Given the description of an element on the screen output the (x, y) to click on. 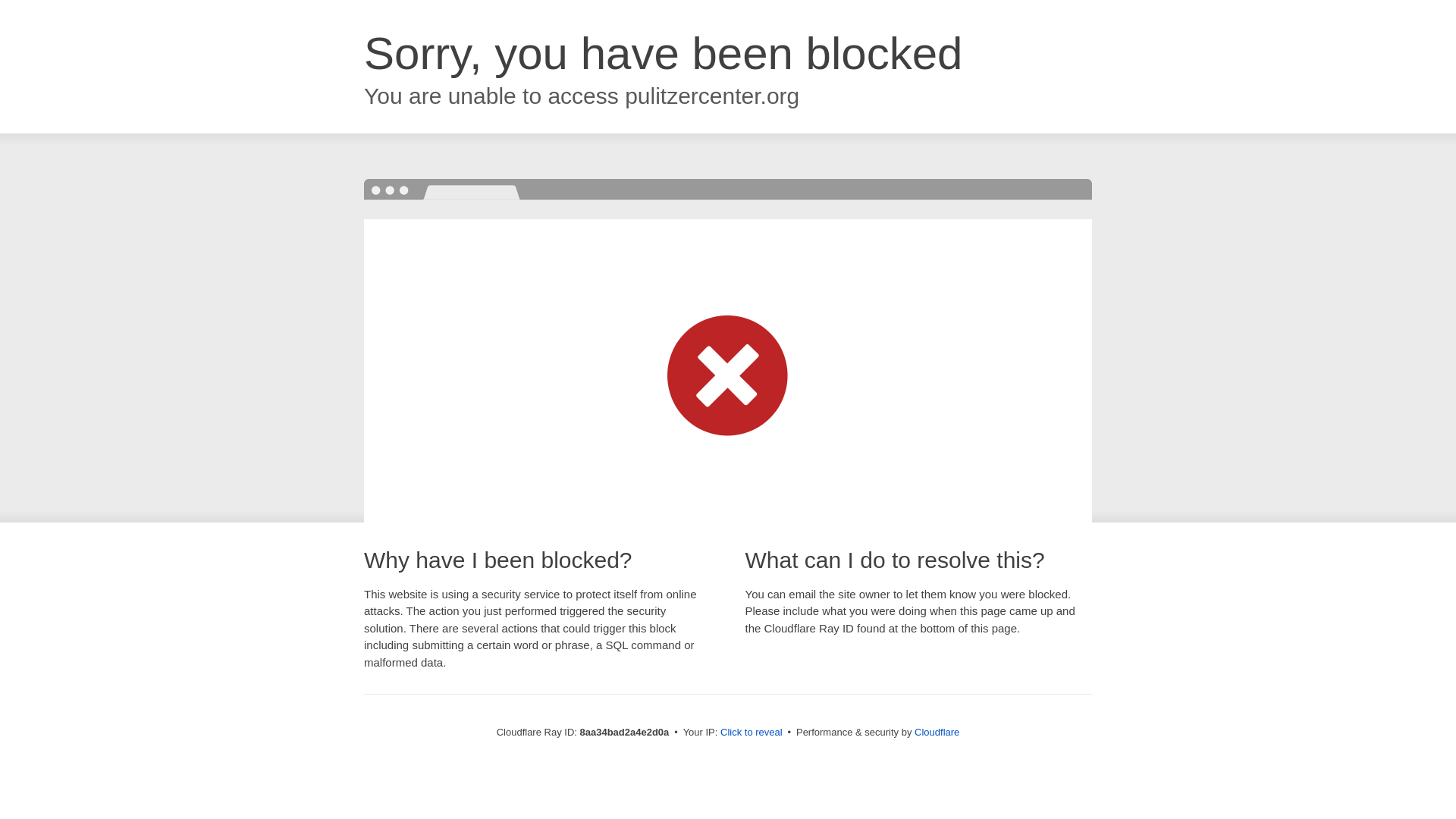
Click to reveal (751, 732)
Cloudflare (936, 731)
